Given the description of an element on the screen output the (x, y) to click on. 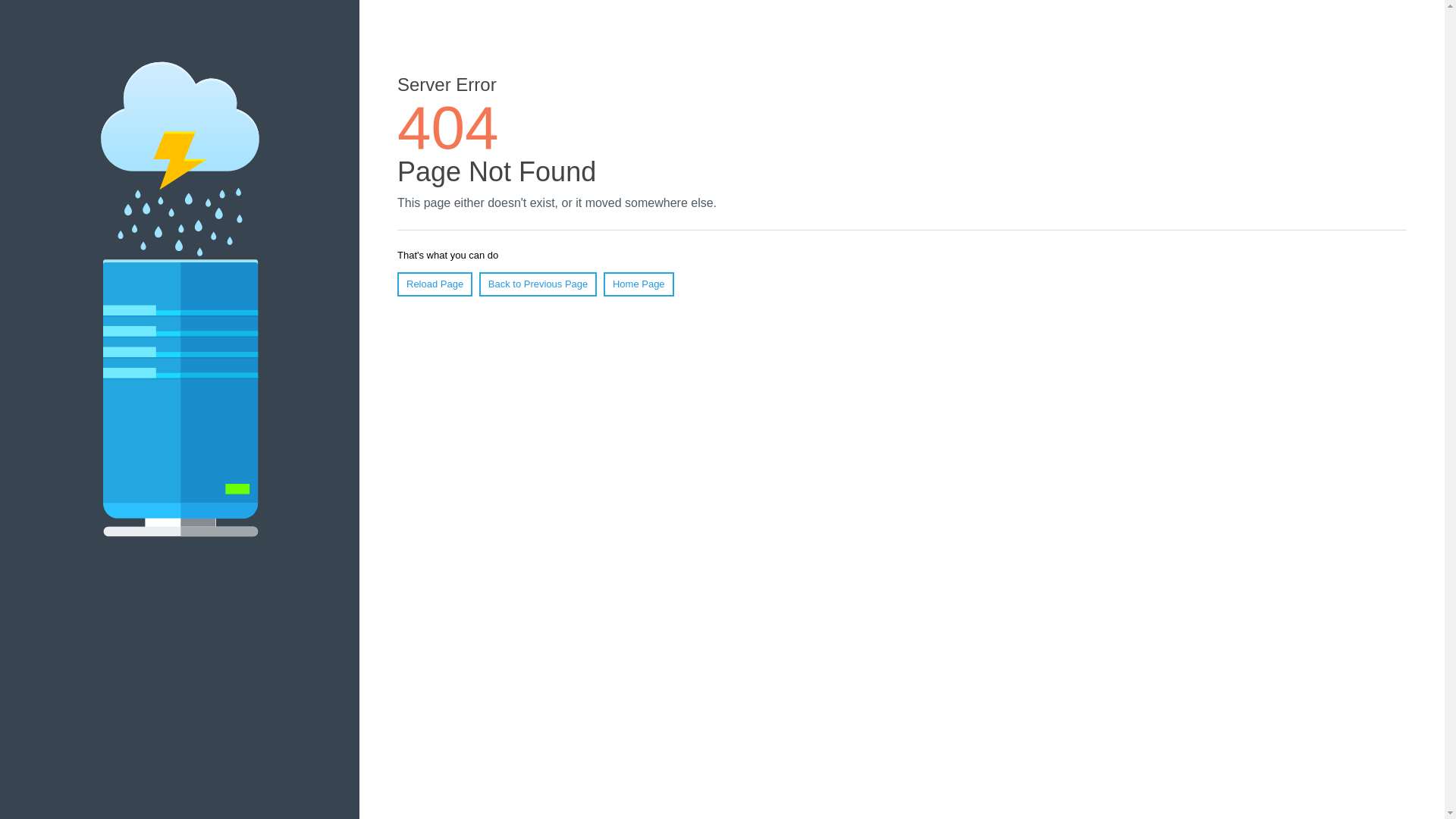
Reload Page (434, 283)
Back to Previous Page (537, 283)
Home Page (639, 283)
